Given the description of an element on the screen output the (x, y) to click on. 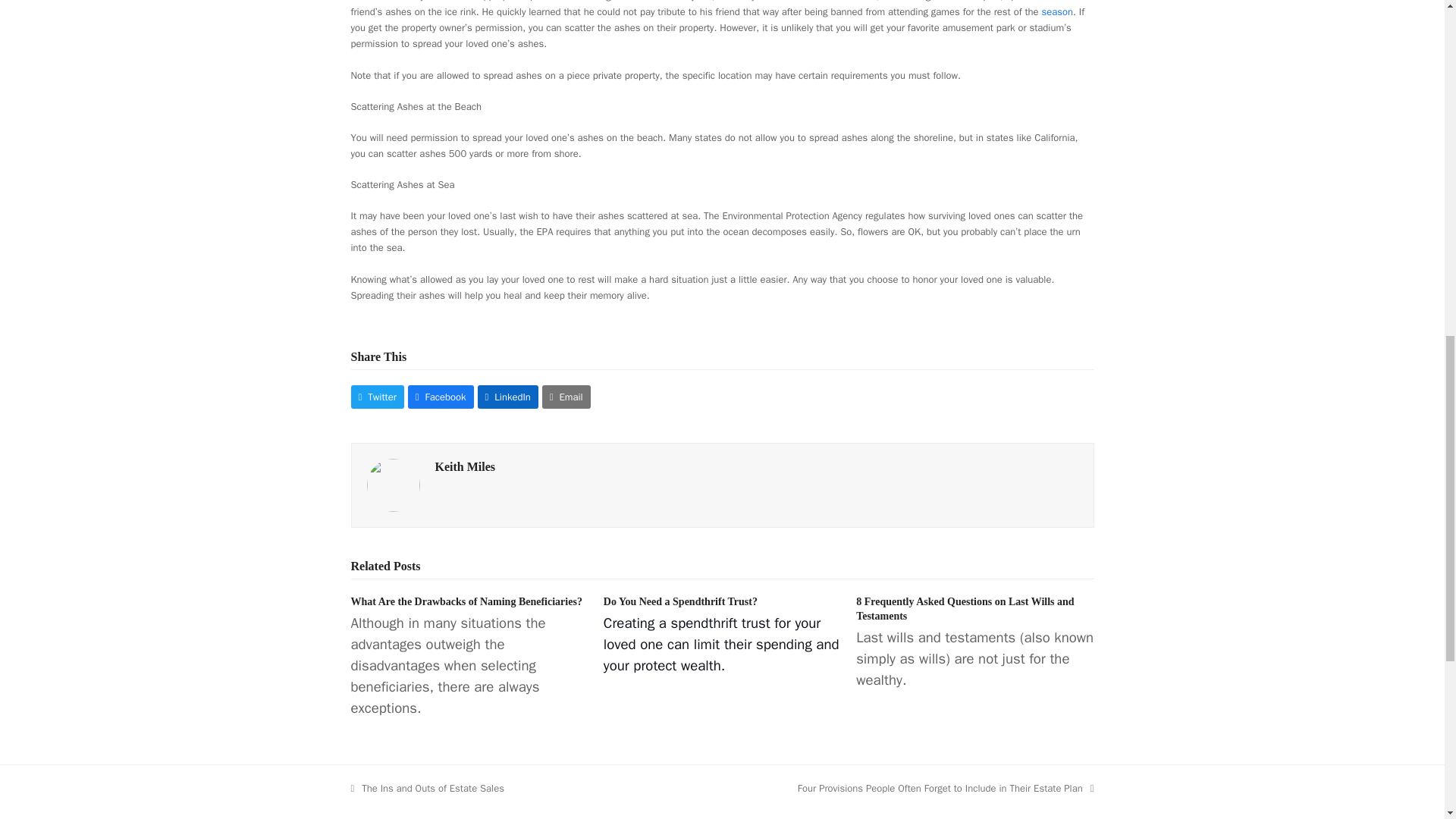
season (1058, 11)
Email (566, 396)
Facebook (440, 396)
LinkedIn (507, 396)
Visit Author Page (465, 466)
Twitter (376, 396)
Keith Miles (465, 466)
Visit Author Page (393, 483)
